Given the description of an element on the screen output the (x, y) to click on. 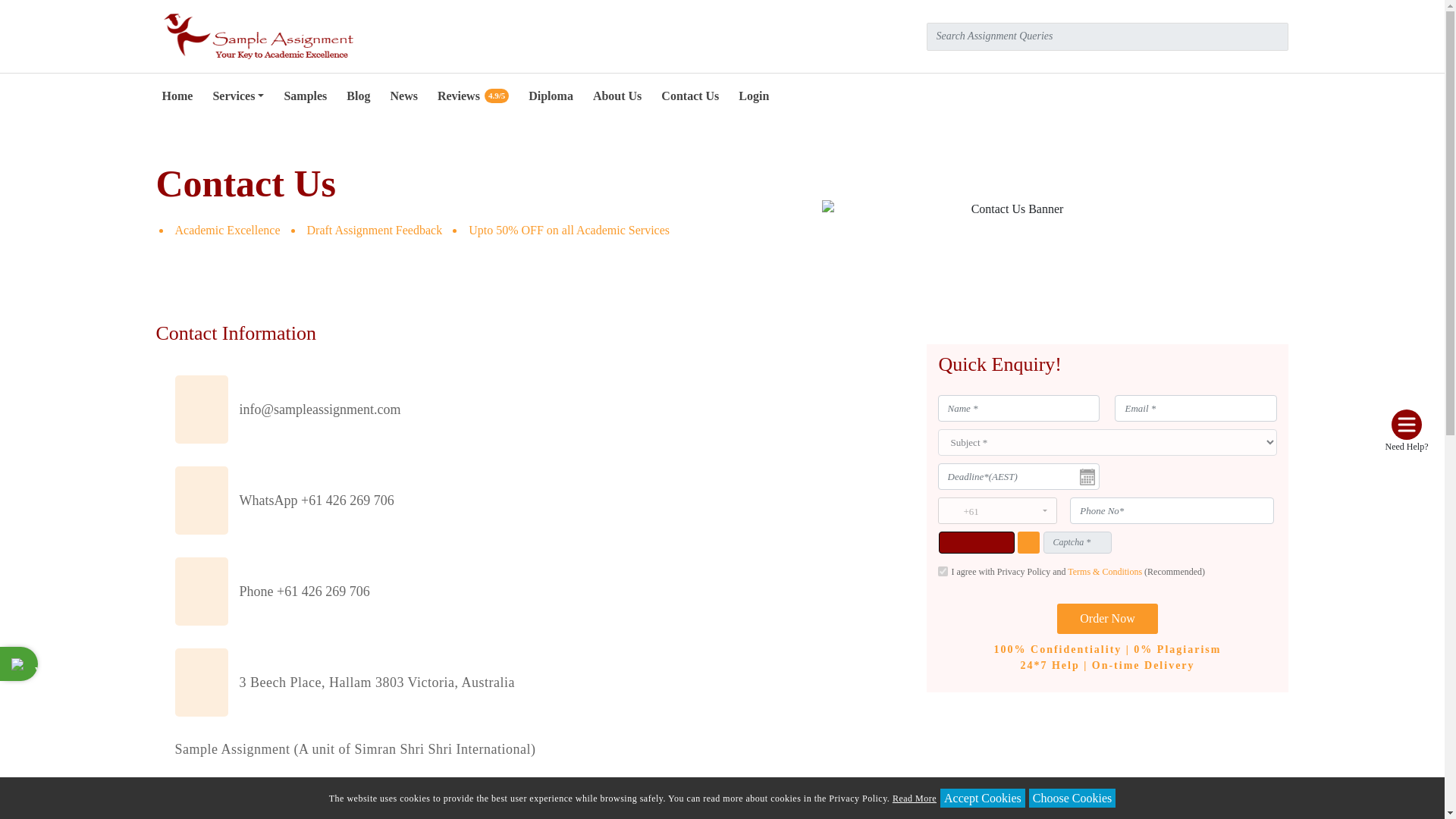
Get Free Quote of Assignment Help AU (1107, 618)
Home (177, 96)
Services (237, 96)
